Given the description of an element on the screen output the (x, y) to click on. 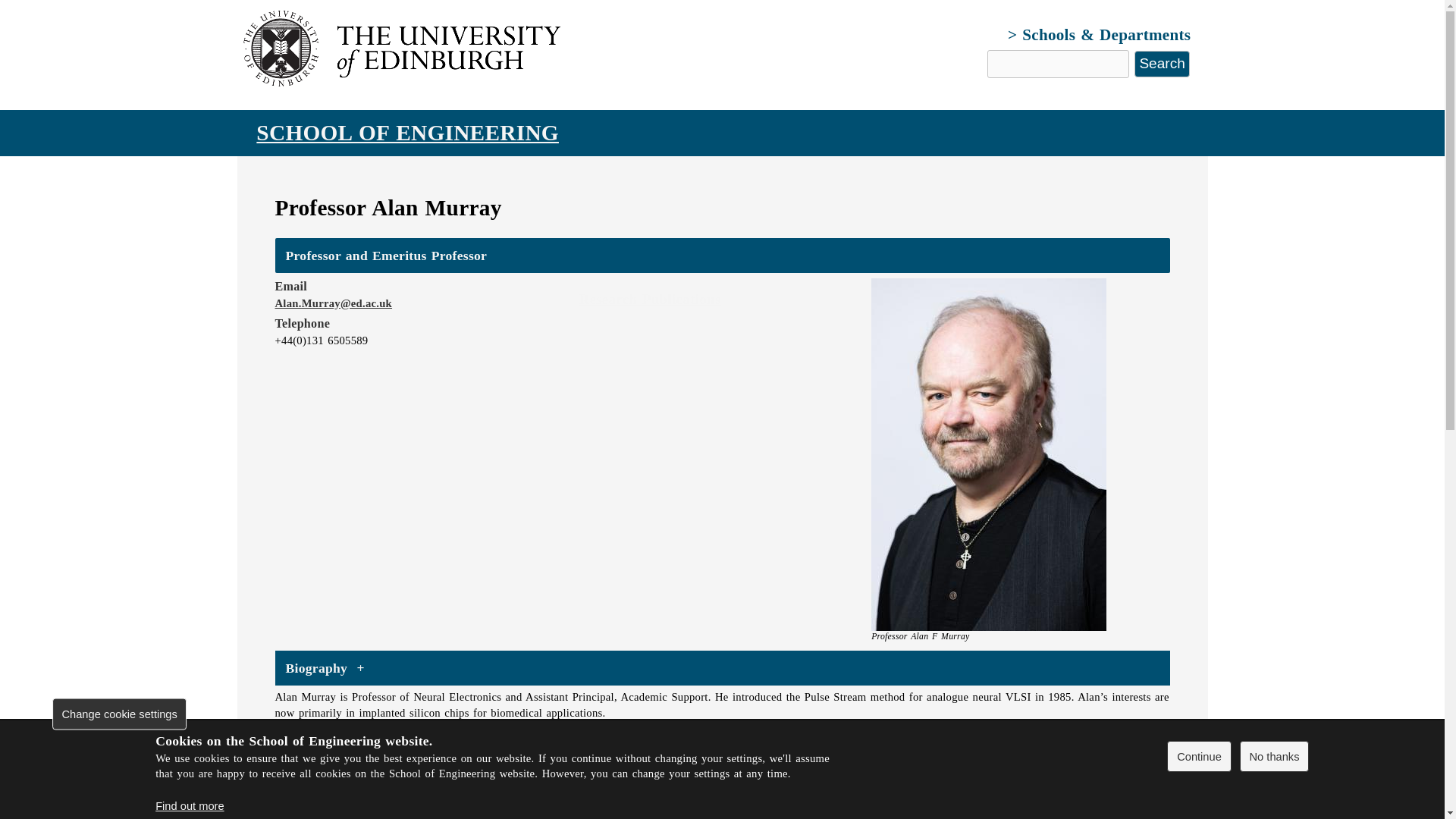
SCHOOL OF ENGINEERING (406, 132)
Find out more (189, 806)
Continue (1198, 756)
Enter the terms you wish to search for. (1058, 63)
University of Edinburgh Schools and Departments (1098, 34)
Research Publications (649, 298)
The University of Edinburgh home (405, 82)
School of Engineering, University of Edinburgh (406, 132)
Search (1162, 63)
